Given the description of an element on the screen output the (x, y) to click on. 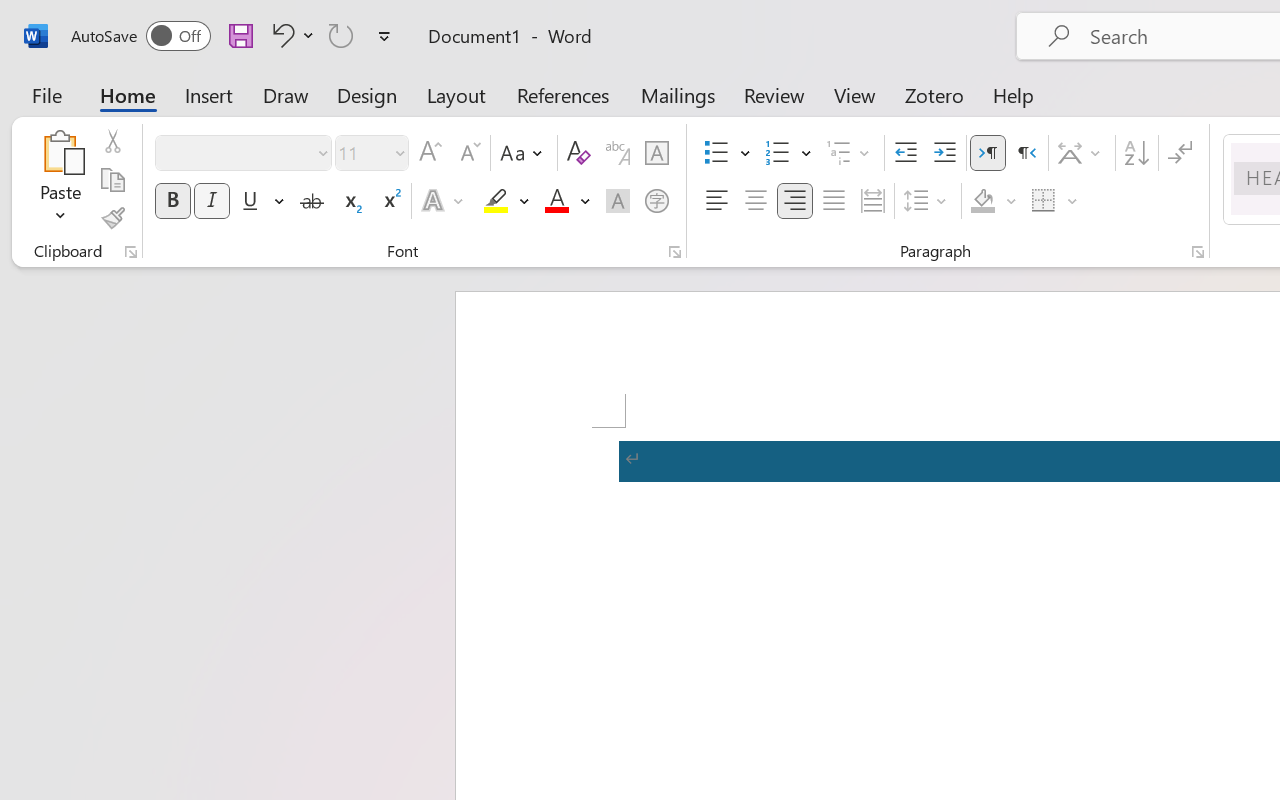
Text Highlight Color RGB(255, 255, 0) (495, 201)
